Given the description of an element on the screen output the (x, y) to click on. 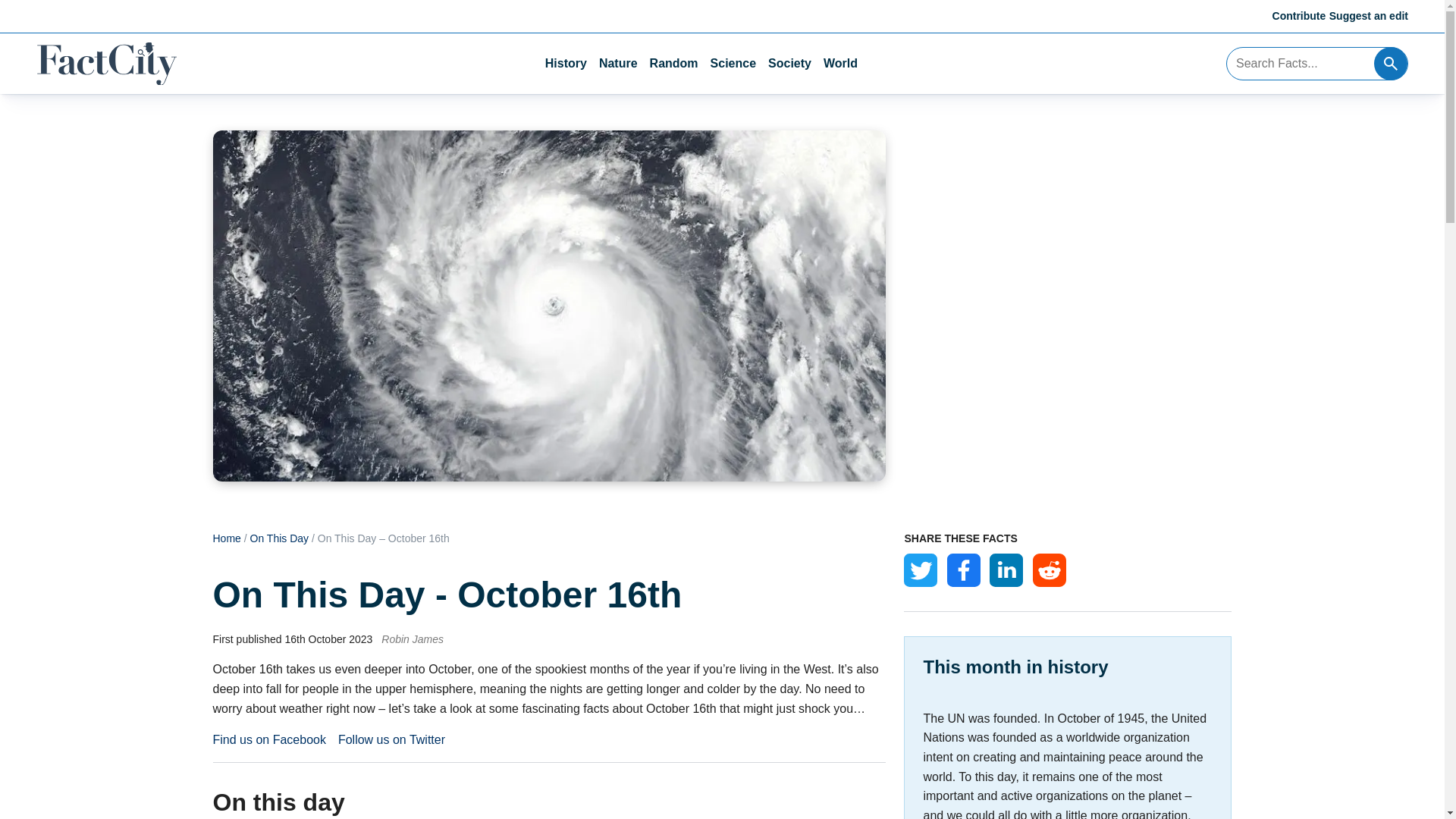
Nature (617, 63)
Suggest an edit to FactCity (1368, 15)
Fact City (106, 63)
Contribute (1299, 15)
On This Day (279, 538)
Society (789, 63)
Search (1390, 63)
Suggest an edit (1368, 15)
World (840, 63)
Contribute to FactCity (1299, 15)
